Given the description of an element on the screen output the (x, y) to click on. 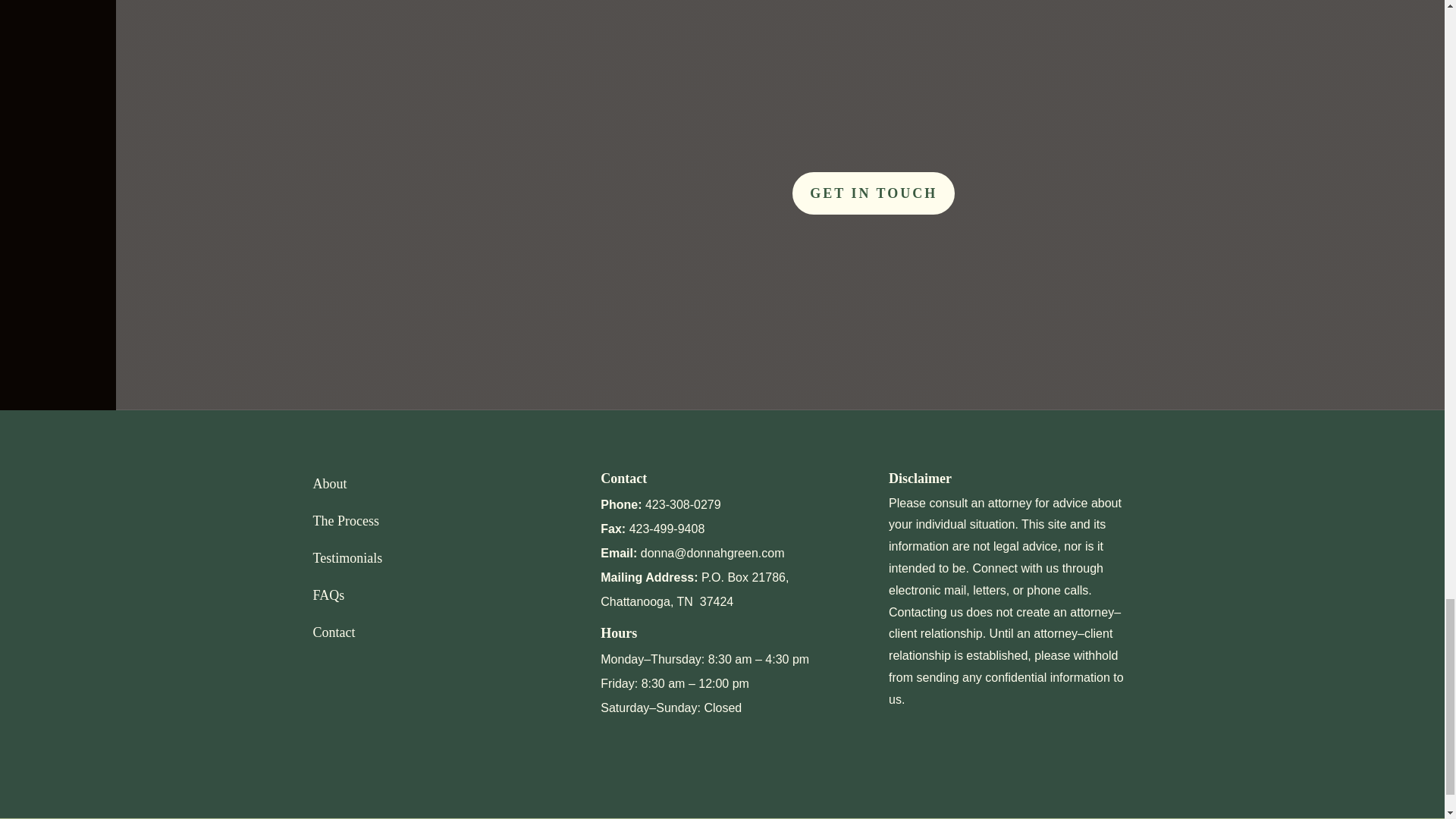
Contact (334, 631)
Testimonials (347, 557)
FAQs (328, 595)
GET IN TOUCH (873, 193)
The Process (345, 520)
423-308-0279 (682, 504)
About (329, 483)
